Given the description of an element on the screen output the (x, y) to click on. 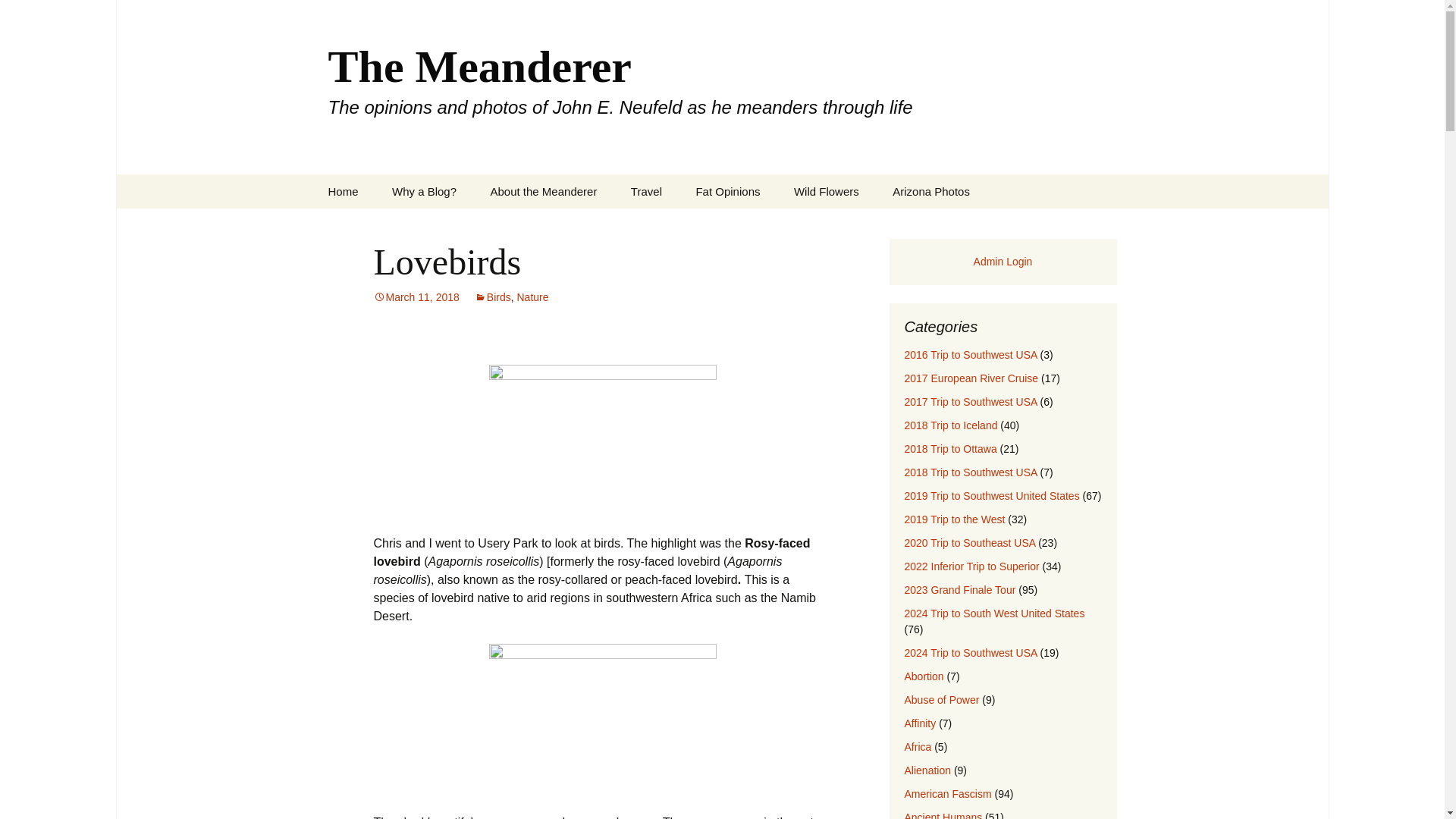
2017 European River Cruise (971, 378)
2018 Trip to Iceland (950, 425)
Art (755, 225)
2017 European River Cruise (691, 230)
Admin Login (1003, 261)
Travel (646, 191)
About the Meanderer (542, 191)
Permalink to Lovebirds (415, 297)
